Given the description of an element on the screen output the (x, y) to click on. 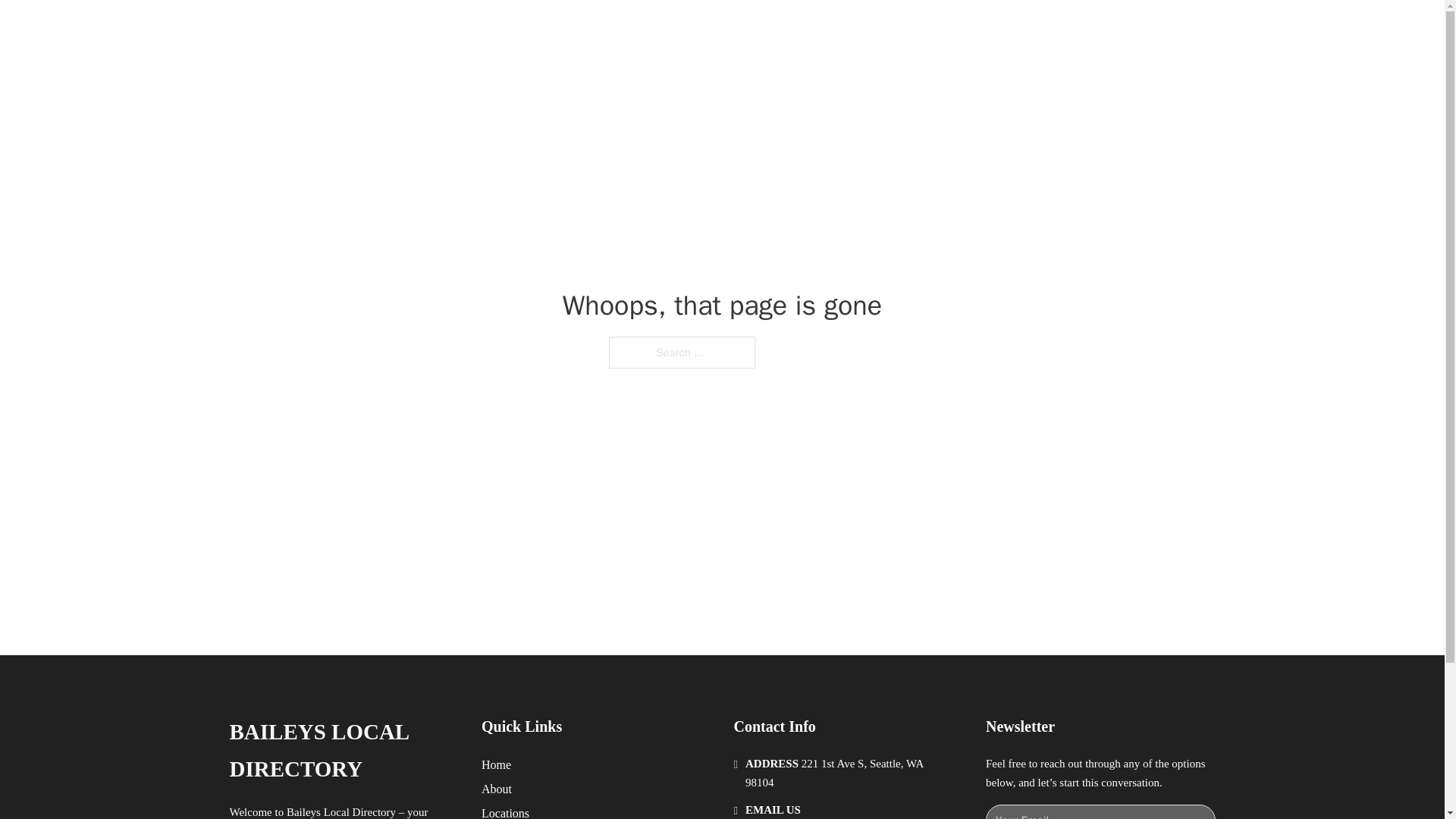
BAILEYS LOCAL DIRECTORY (444, 28)
Home (496, 764)
Locations (505, 811)
About (496, 788)
BAILEYS LOCAL DIRECTORY (343, 750)
